Given the description of an element on the screen output the (x, y) to click on. 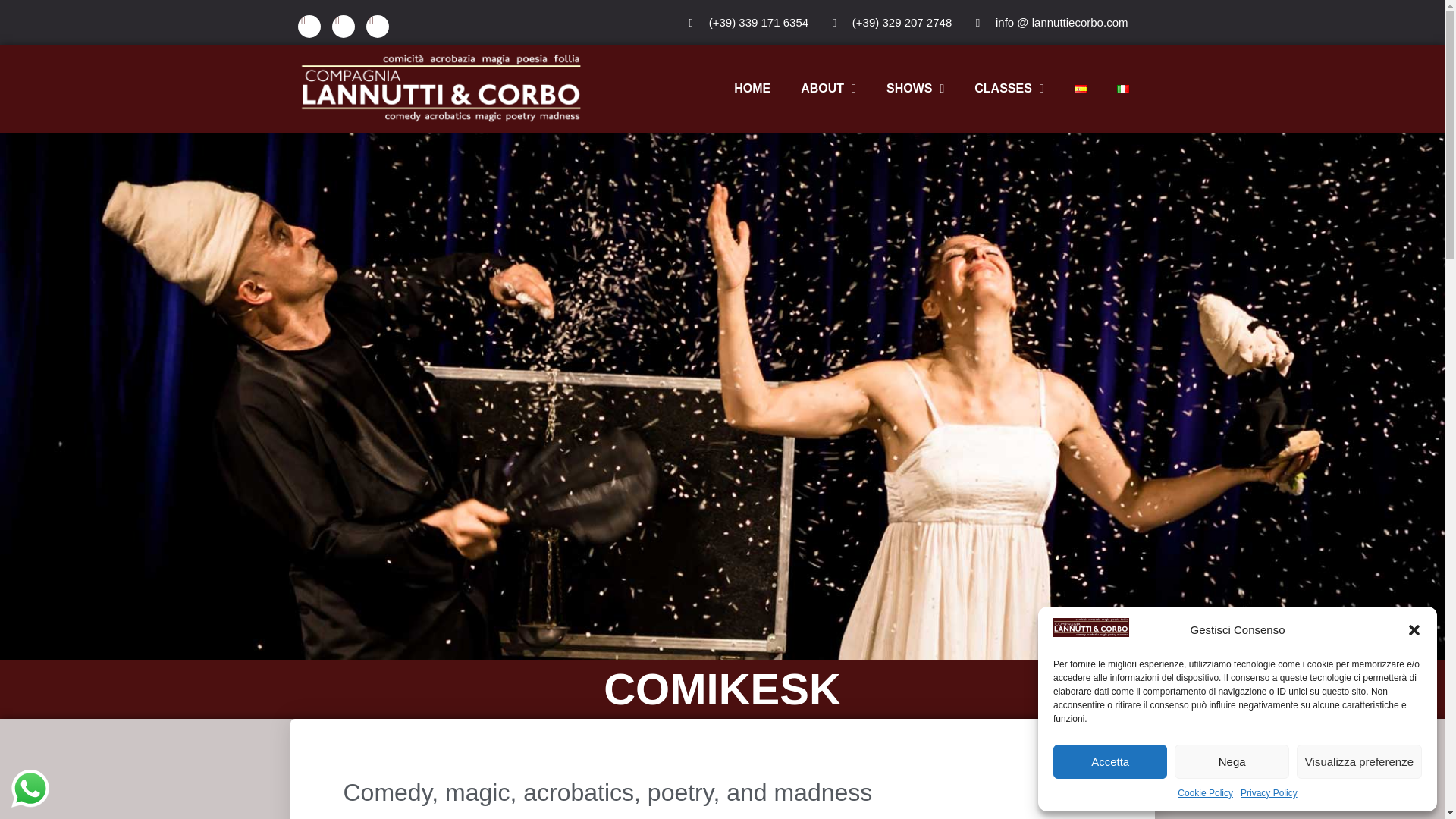
Accetta (1109, 761)
SHOWS (914, 88)
HOME (752, 88)
Nega (1231, 761)
Visualizza preferenze (1359, 761)
CLASSES (1008, 88)
Privacy Policy (1268, 793)
ABOUT (828, 88)
Cookie Policy (1205, 793)
